Given the description of an element on the screen output the (x, y) to click on. 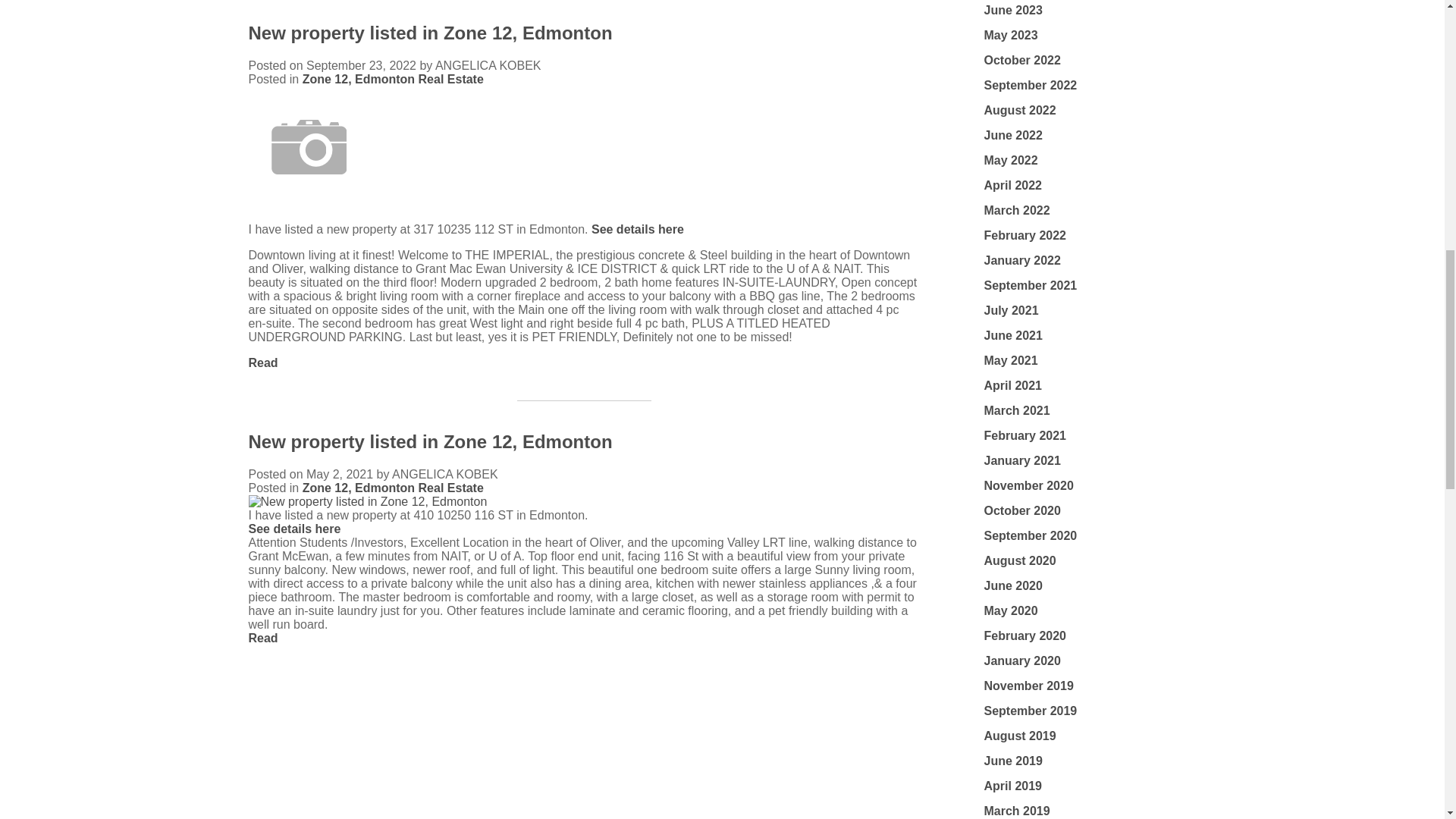
Selling (319, 808)
Properties (319, 768)
Zone 12, Edmonton Real Estate (392, 78)
About  (466, 808)
New property listed in Zone 12, Edmonton (430, 33)
Read full post (584, 501)
Buying (466, 768)
Read full post (584, 148)
See details here (637, 228)
